Given the description of an element on the screen output the (x, y) to click on. 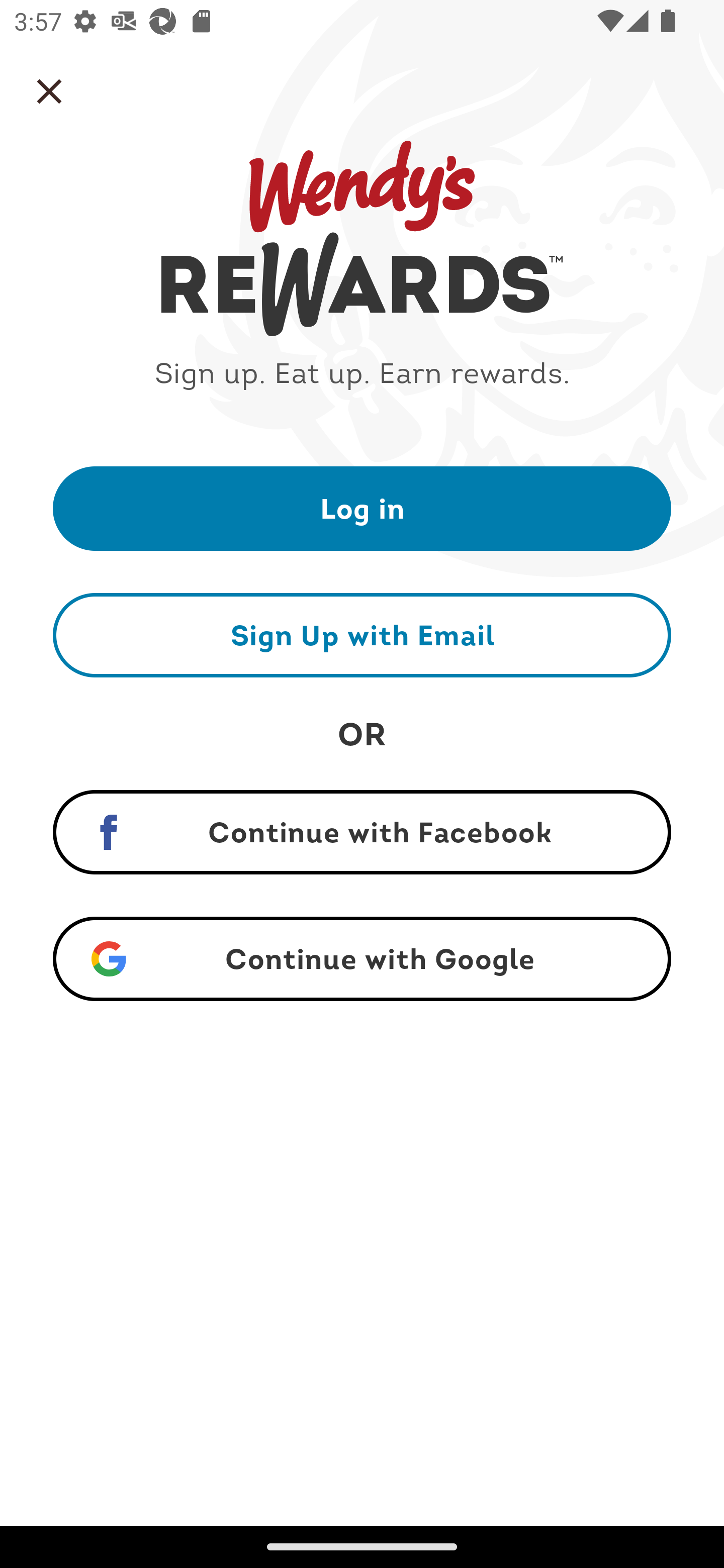
close (49, 91)
Log in (361, 507)
Sign Up with Email (361, 634)
Continue with Facebook (361, 832)
Continue with Google (361, 958)
